Given the description of an element on the screen output the (x, y) to click on. 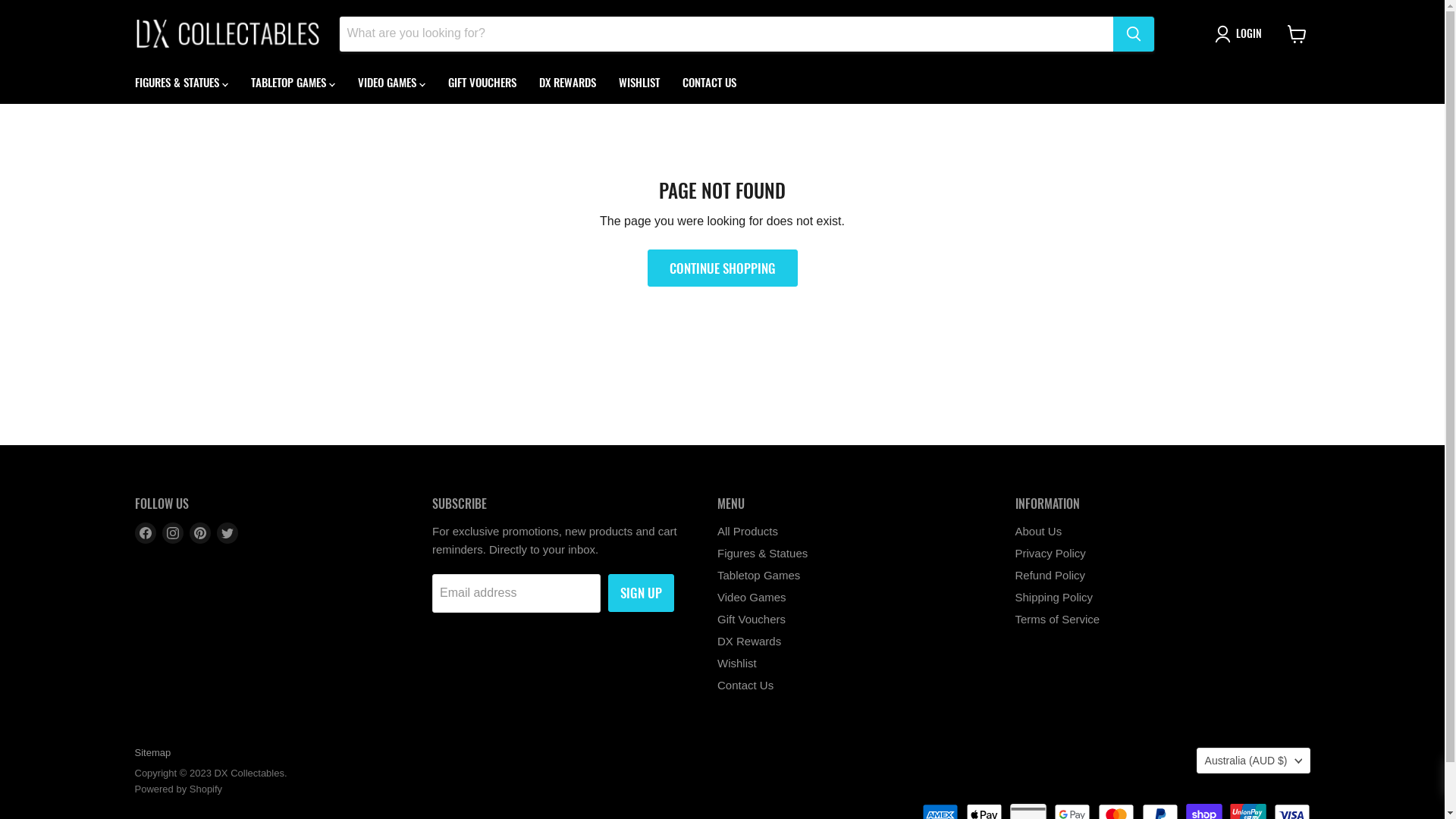
CONTACT US Element type: text (708, 81)
Find us on Instagram Element type: text (172, 532)
Privacy Policy Element type: text (1049, 552)
Figures & Statues Element type: text (762, 552)
GIFT VOUCHERS Element type: text (481, 81)
Gift Vouchers Element type: text (751, 618)
Sitemap Element type: text (152, 752)
Shipping Policy Element type: text (1053, 596)
Powered by Shopify Element type: text (178, 788)
Terms of Service Element type: text (1056, 618)
DX REWARDS Element type: text (567, 81)
Refund Policy Element type: text (1049, 574)
WISHLIST Element type: text (638, 81)
SIGN UP Element type: text (641, 592)
About Us Element type: text (1037, 530)
DX Rewards Element type: text (749, 640)
Tabletop Games Element type: text (758, 574)
Find us on Twitter Element type: text (227, 532)
View cart Element type: text (1297, 33)
Australia (AUD $) Element type: text (1253, 760)
Contact Us Element type: text (745, 684)
Find us on Facebook Element type: text (145, 532)
CONTINUE SHOPPING Element type: text (722, 268)
Video Games Element type: text (751, 596)
Find us on Pinterest Element type: text (199, 532)
Wishlist Element type: text (736, 662)
LOGIN Element type: text (1240, 34)
All Products Element type: text (747, 530)
